Given the description of an element on the screen output the (x, y) to click on. 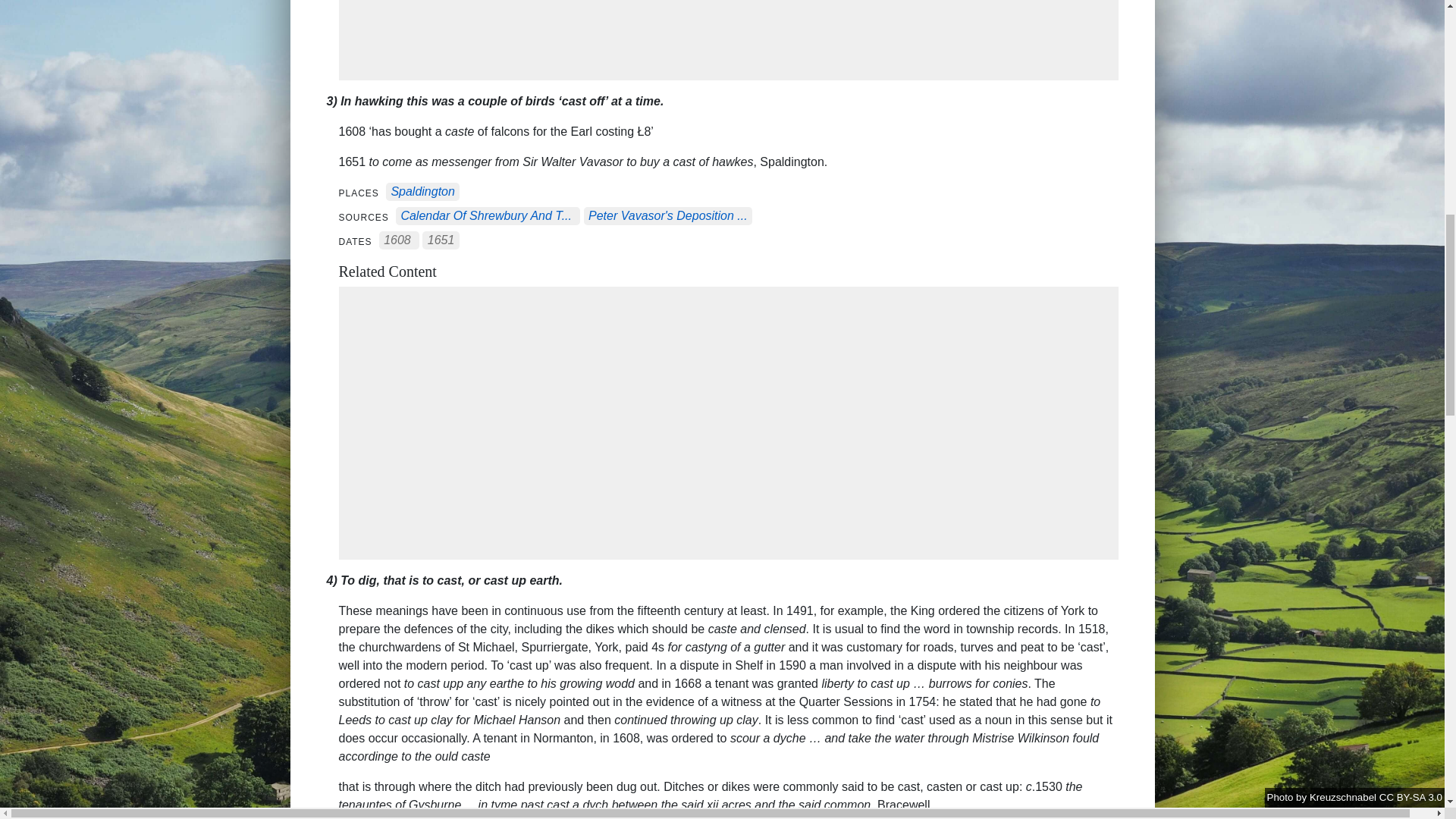
Calendar Of Shrewbury And T... (486, 215)
Spaldington (422, 192)
Peter Vavasor'S Deposition ... (668, 215)
